Given the description of an element on the screen output the (x, y) to click on. 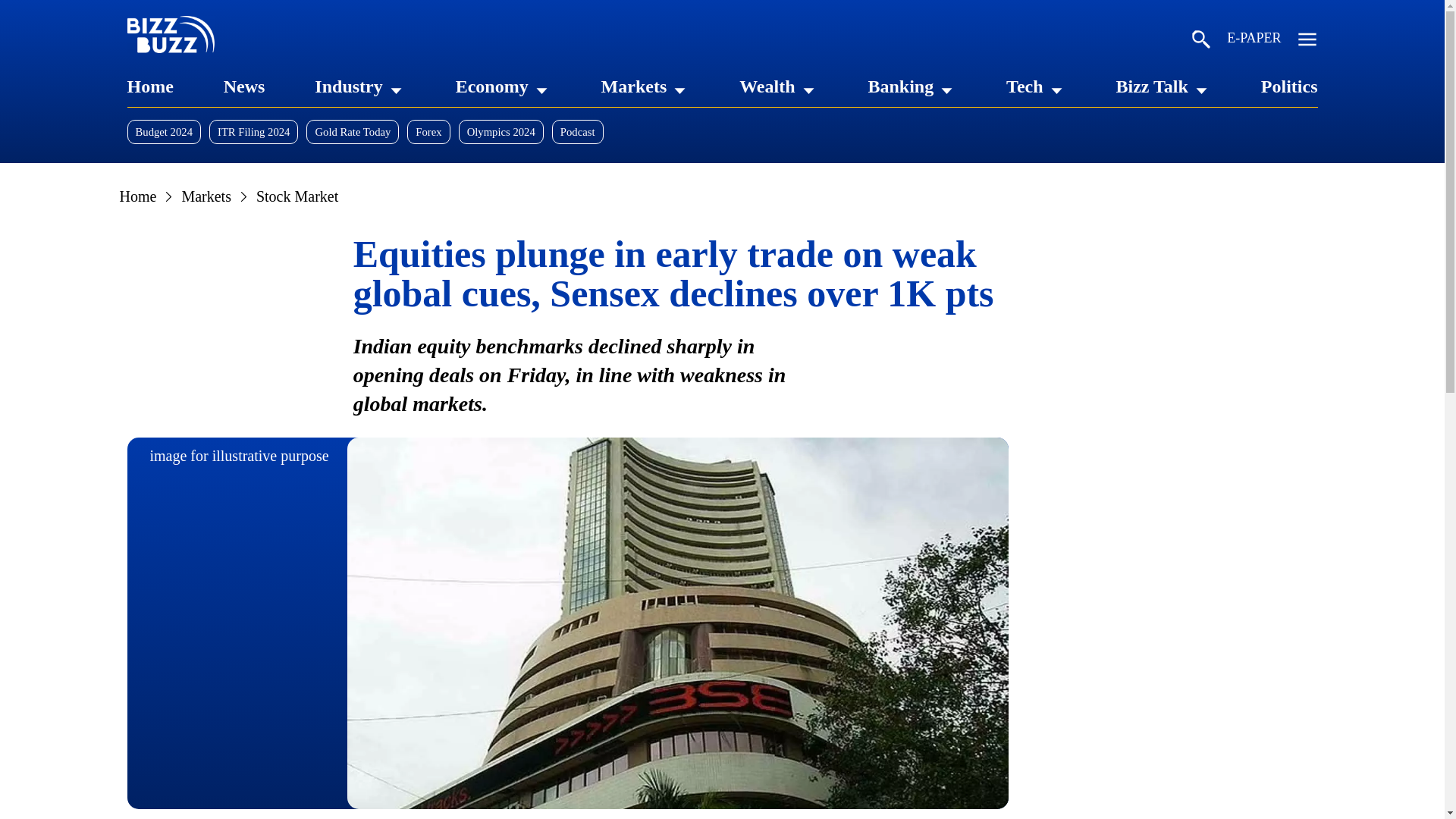
Industry (347, 86)
Economy (491, 86)
Home (150, 86)
Markets (633, 86)
Wealth (766, 86)
News (244, 86)
E-PAPER (1254, 41)
